Given the description of an element on the screen output the (x, y) to click on. 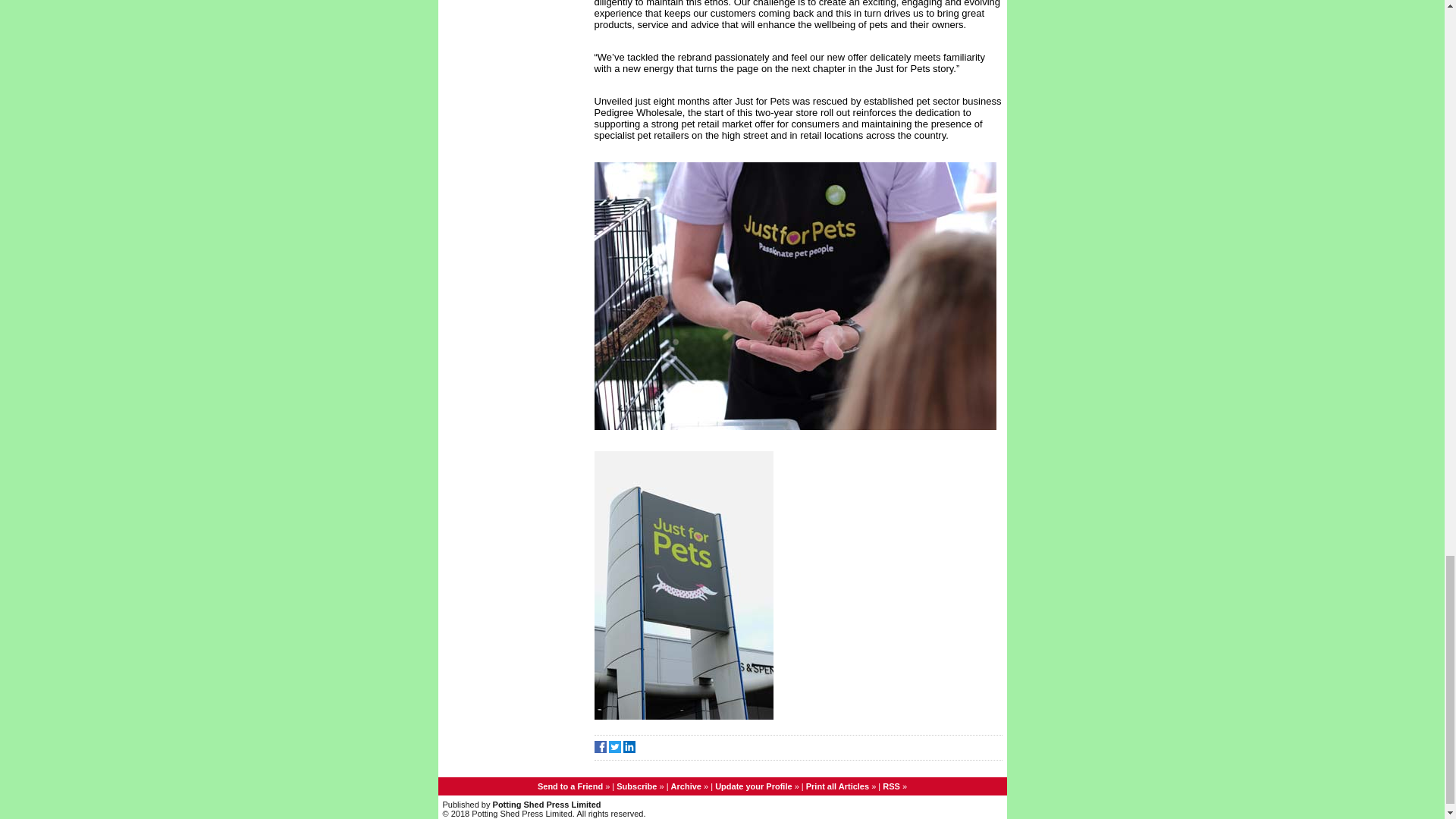
Subscribe (635, 785)
Send to a Friend (569, 785)
